Given the description of an element on the screen output the (x, y) to click on. 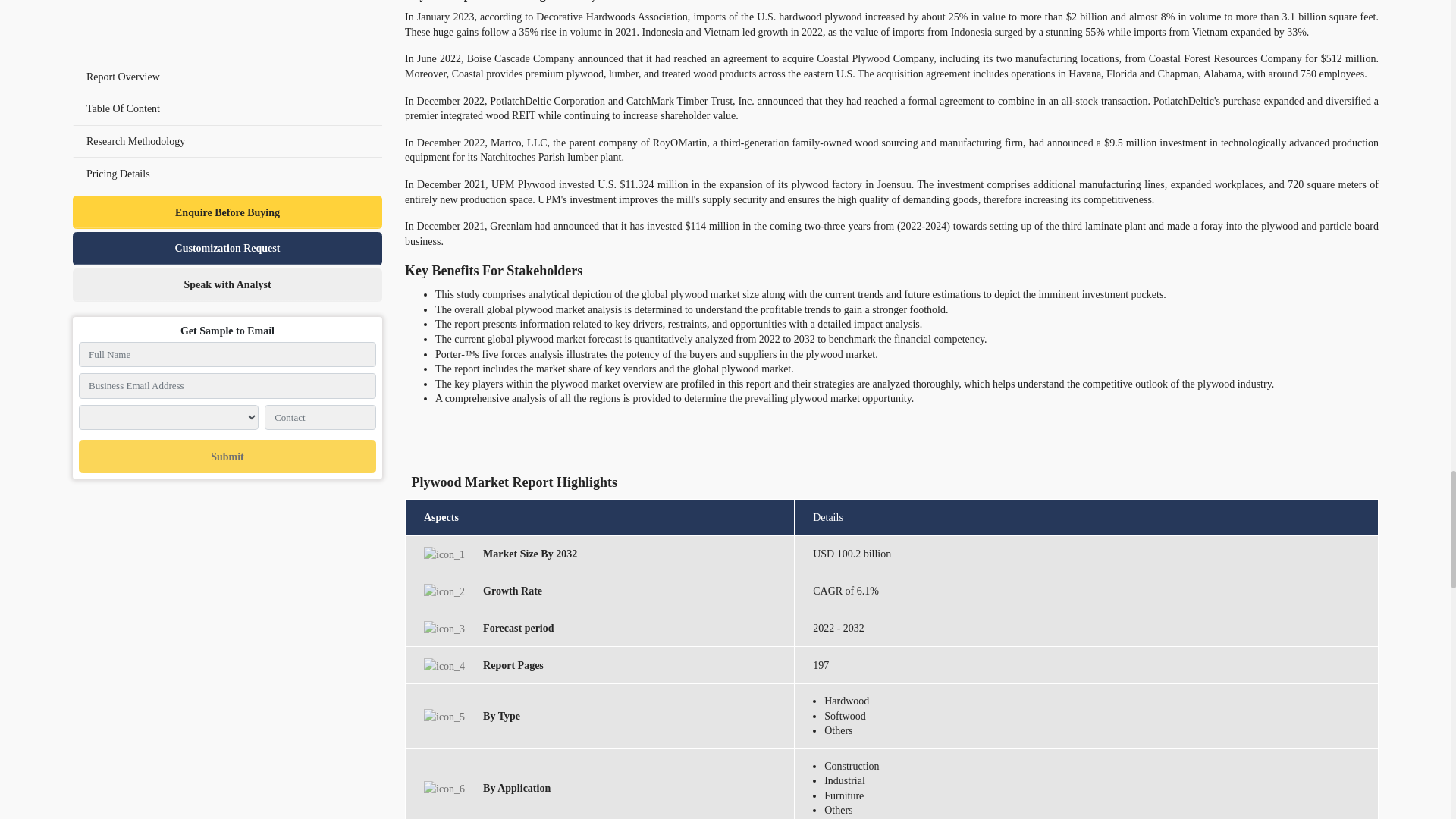
Forecast period (443, 628)
Growth Rate (443, 591)
Plywood Market By Type (443, 716)
Plywood Market By Application (443, 788)
Report Pages (443, 666)
Market Size By 2032 (443, 554)
